Given the description of an element on the screen output the (x, y) to click on. 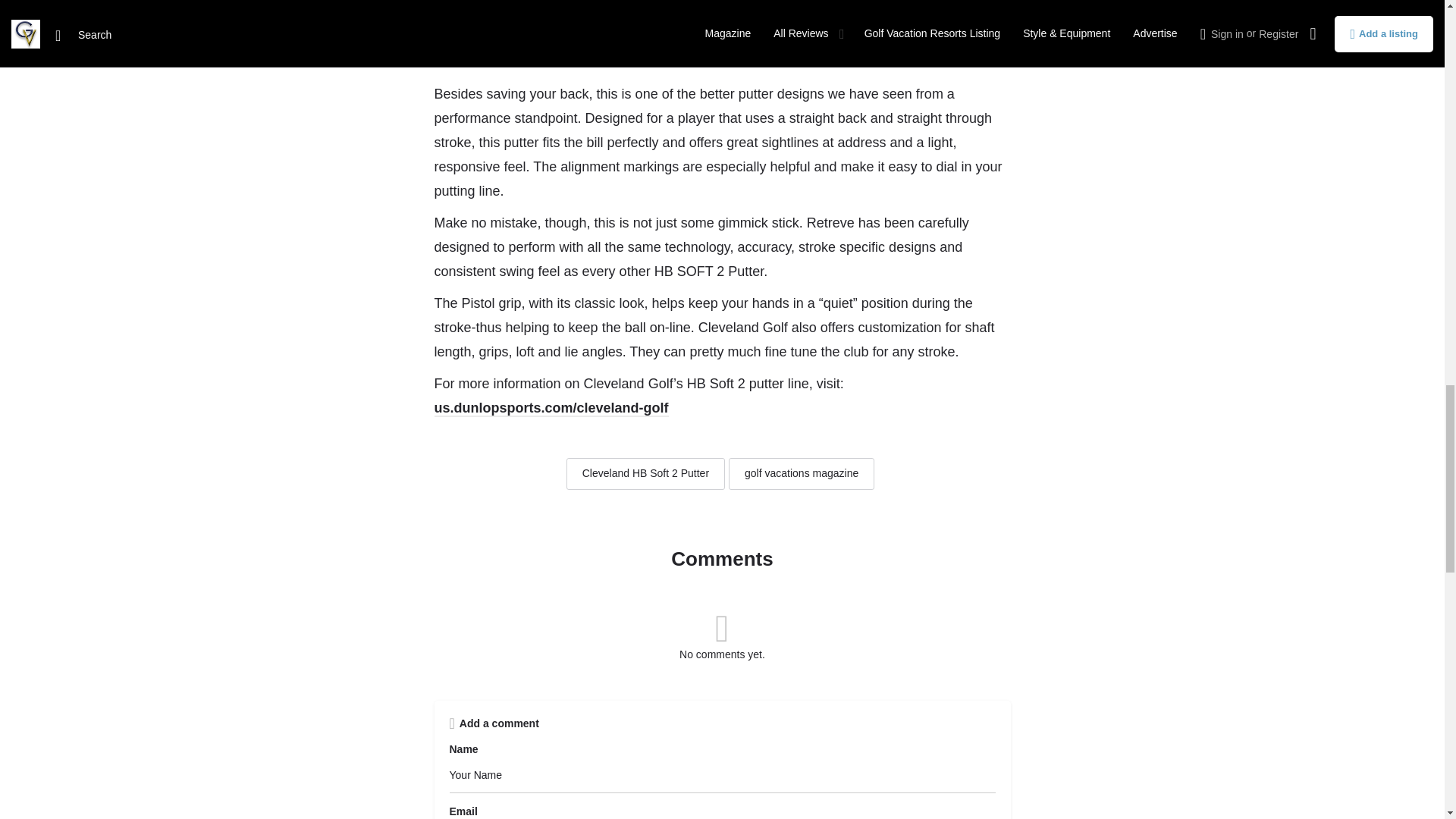
Cleveland HB Soft 2 Putter (645, 473)
golf vacations magazine (802, 473)
